Given the description of an element on the screen output the (x, y) to click on. 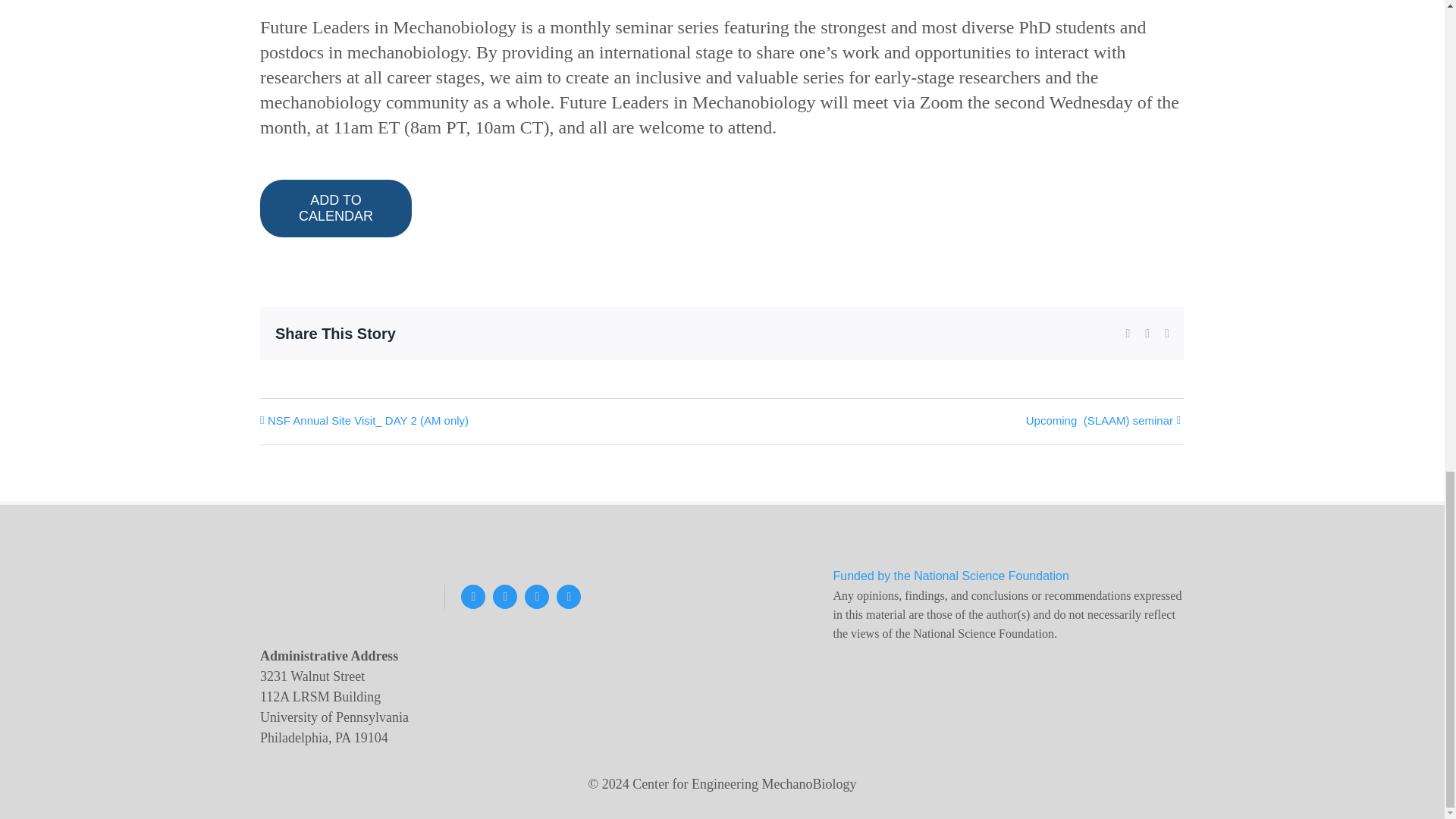
YouTube (536, 596)
LinkedIn (568, 596)
Instagram (504, 596)
X (472, 596)
